Given the description of an element on the screen output the (x, y) to click on. 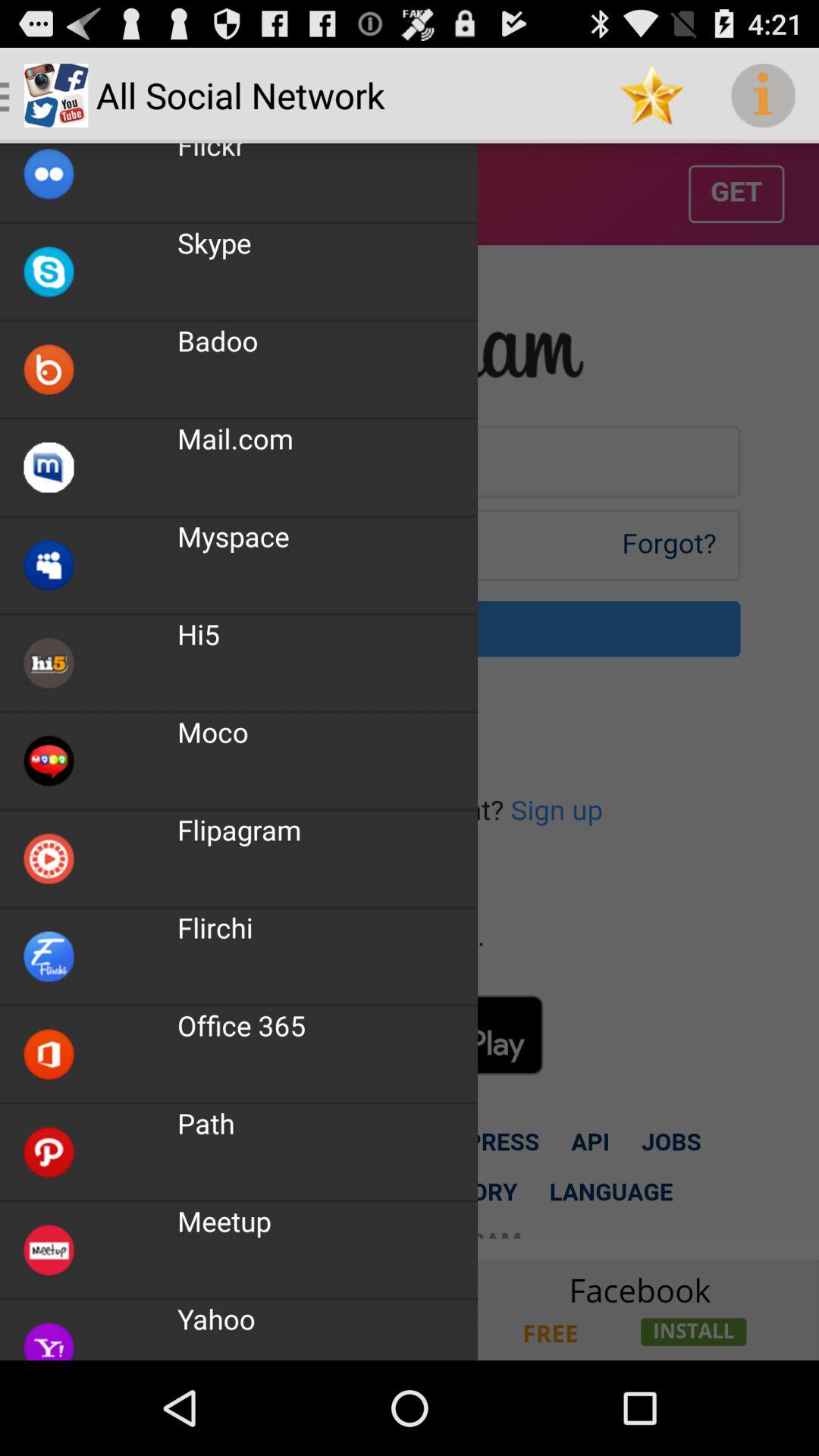
turn off path app (205, 1123)
